Given the description of an element on the screen output the (x, y) to click on. 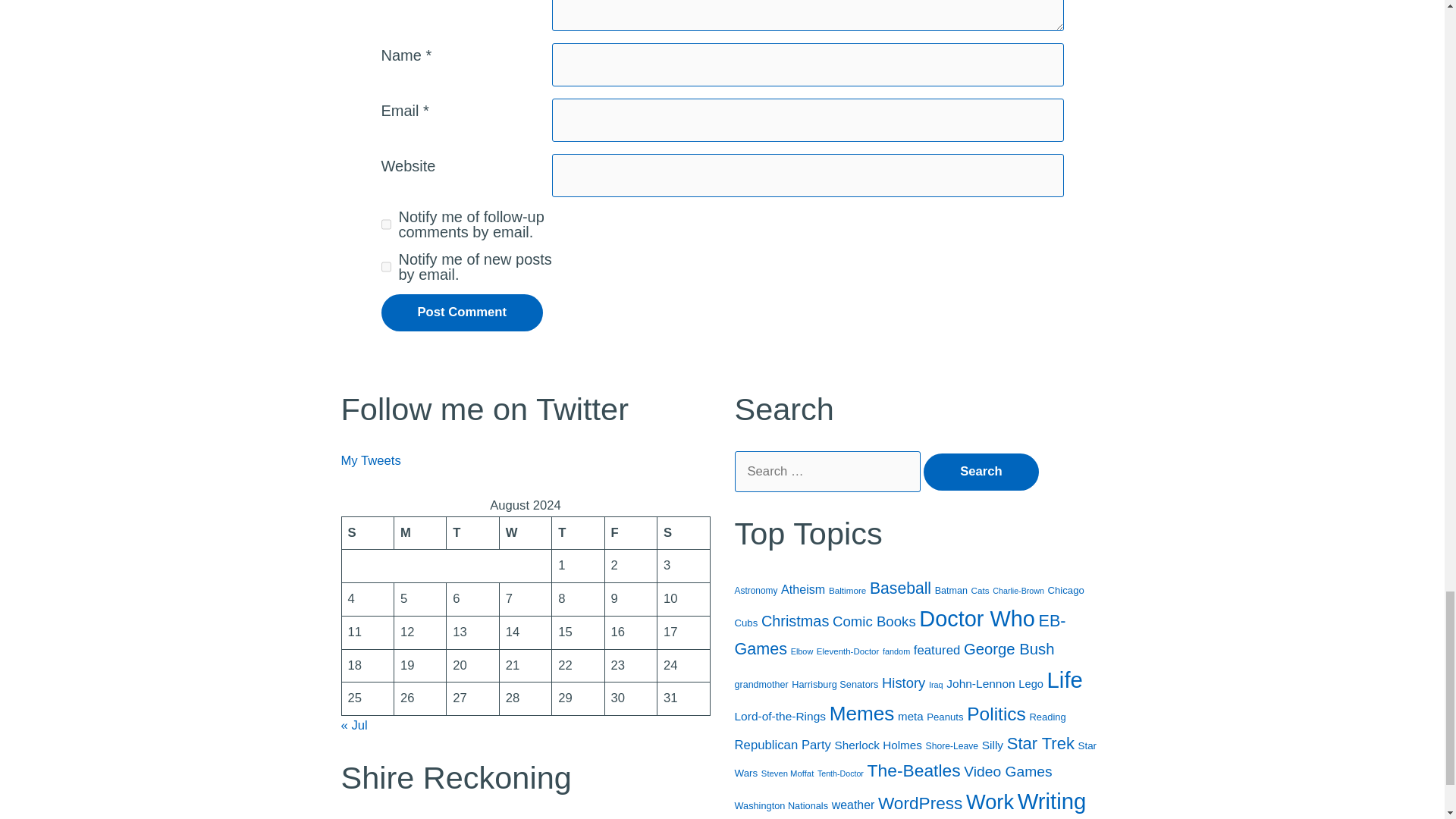
Monday (419, 532)
Tuesday (472, 532)
Search (981, 471)
Search (981, 471)
Thursday (577, 532)
Sunday (366, 532)
Friday (630, 532)
Post Comment (461, 312)
Wednesday (525, 532)
